Given the description of an element on the screen output the (x, y) to click on. 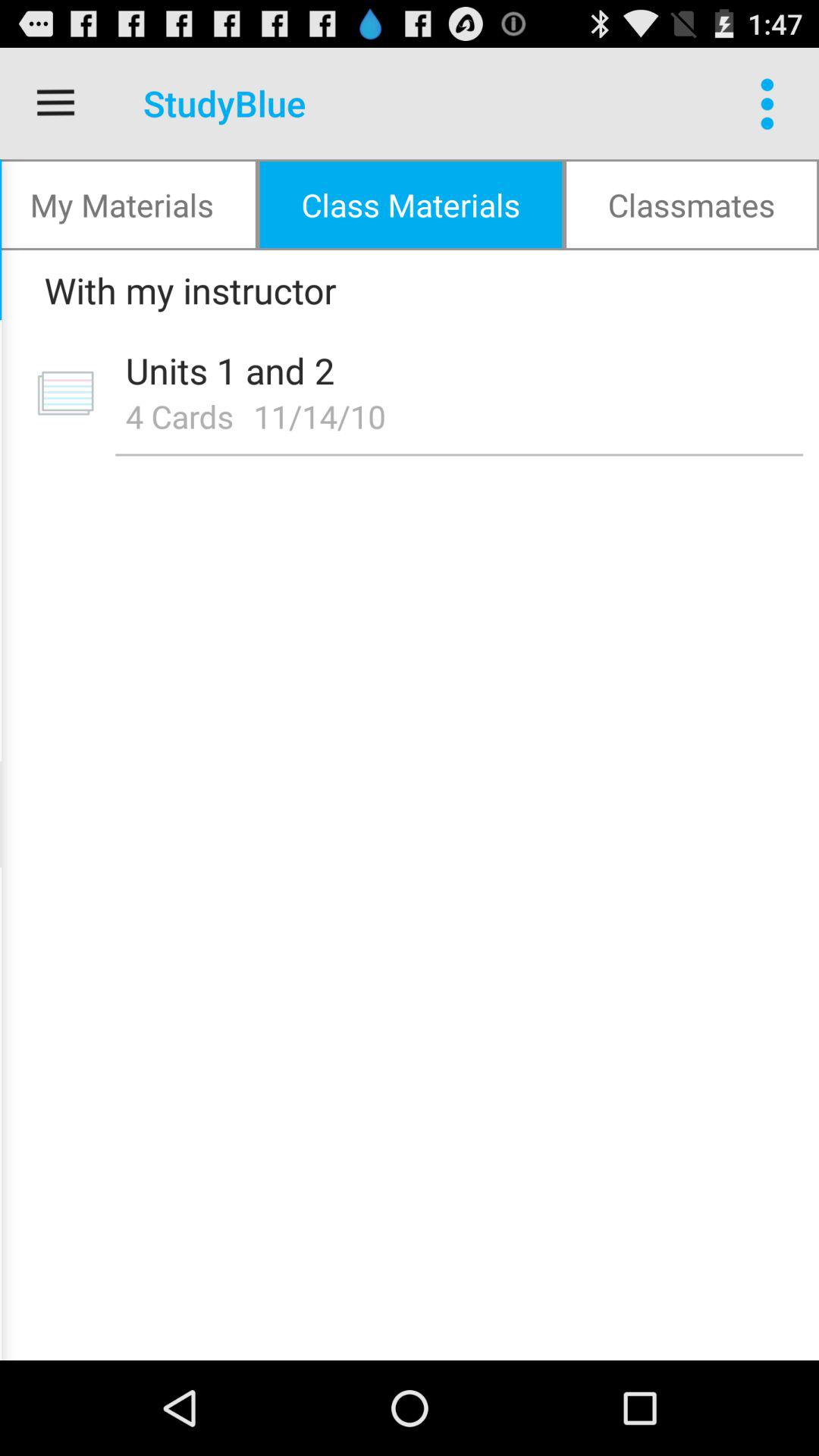
open icon next to the units 1 and item (65, 393)
